Given the description of an element on the screen output the (x, y) to click on. 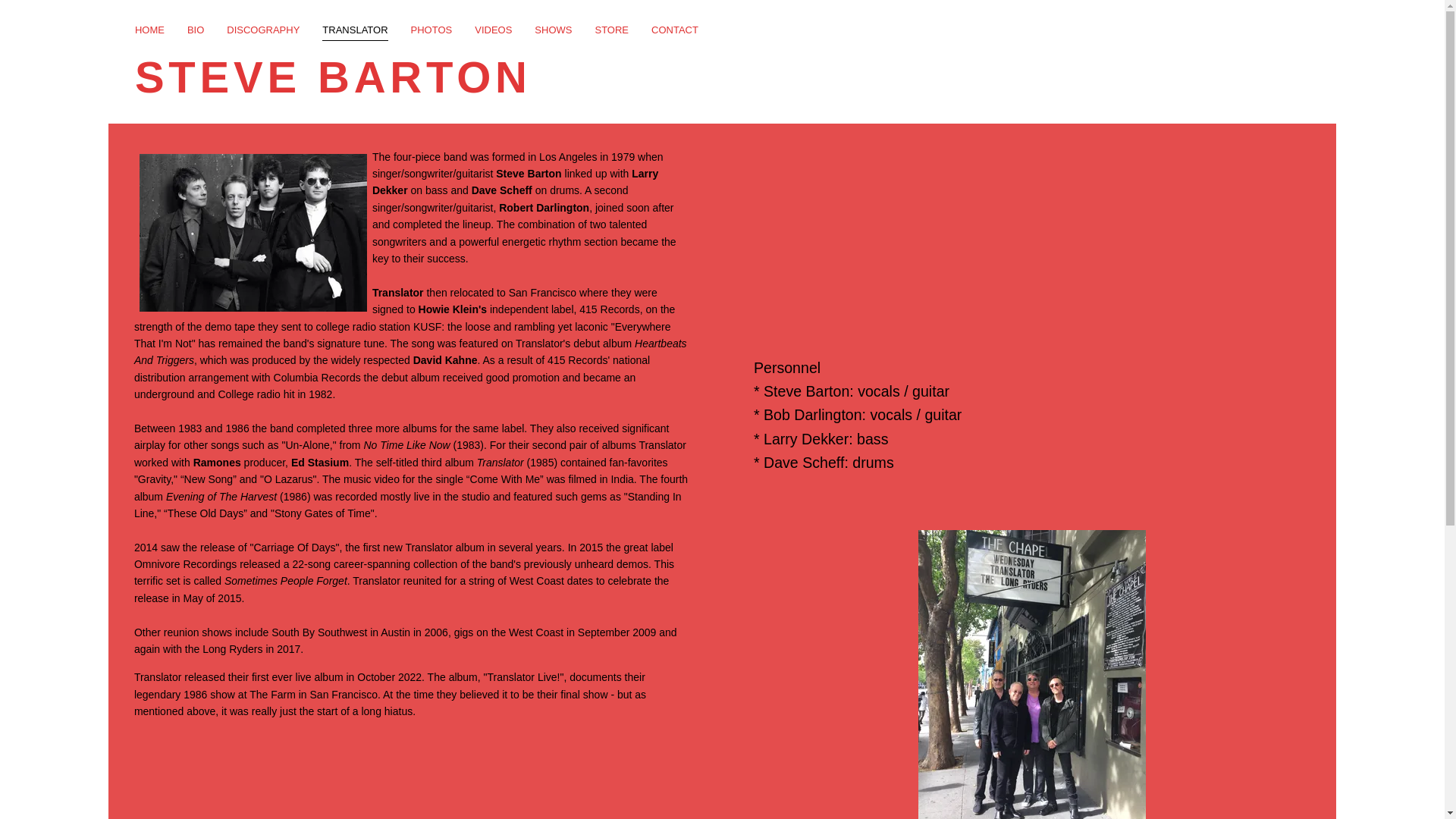
VIDEOS (493, 33)
STORE (611, 33)
TRANSLATOR (354, 33)
STEVE BARTON (333, 84)
PHOTOS (431, 33)
CONTACT (674, 33)
HOME (149, 33)
DISCOGRAPHY (263, 33)
SHOWS (553, 33)
